Given the description of an element on the screen output the (x, y) to click on. 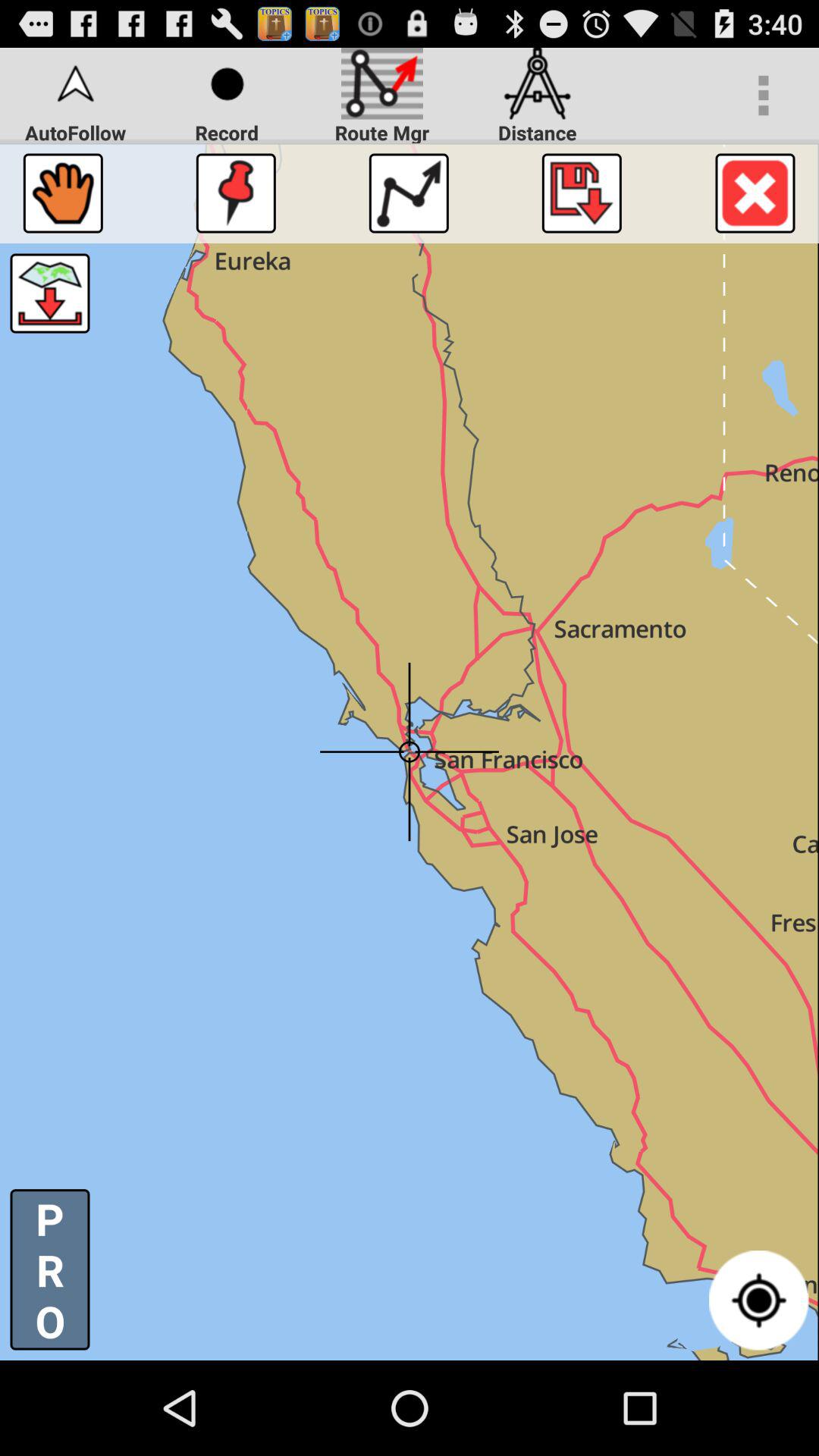
create waypoint (235, 193)
